Given the description of an element on the screen output the (x, y) to click on. 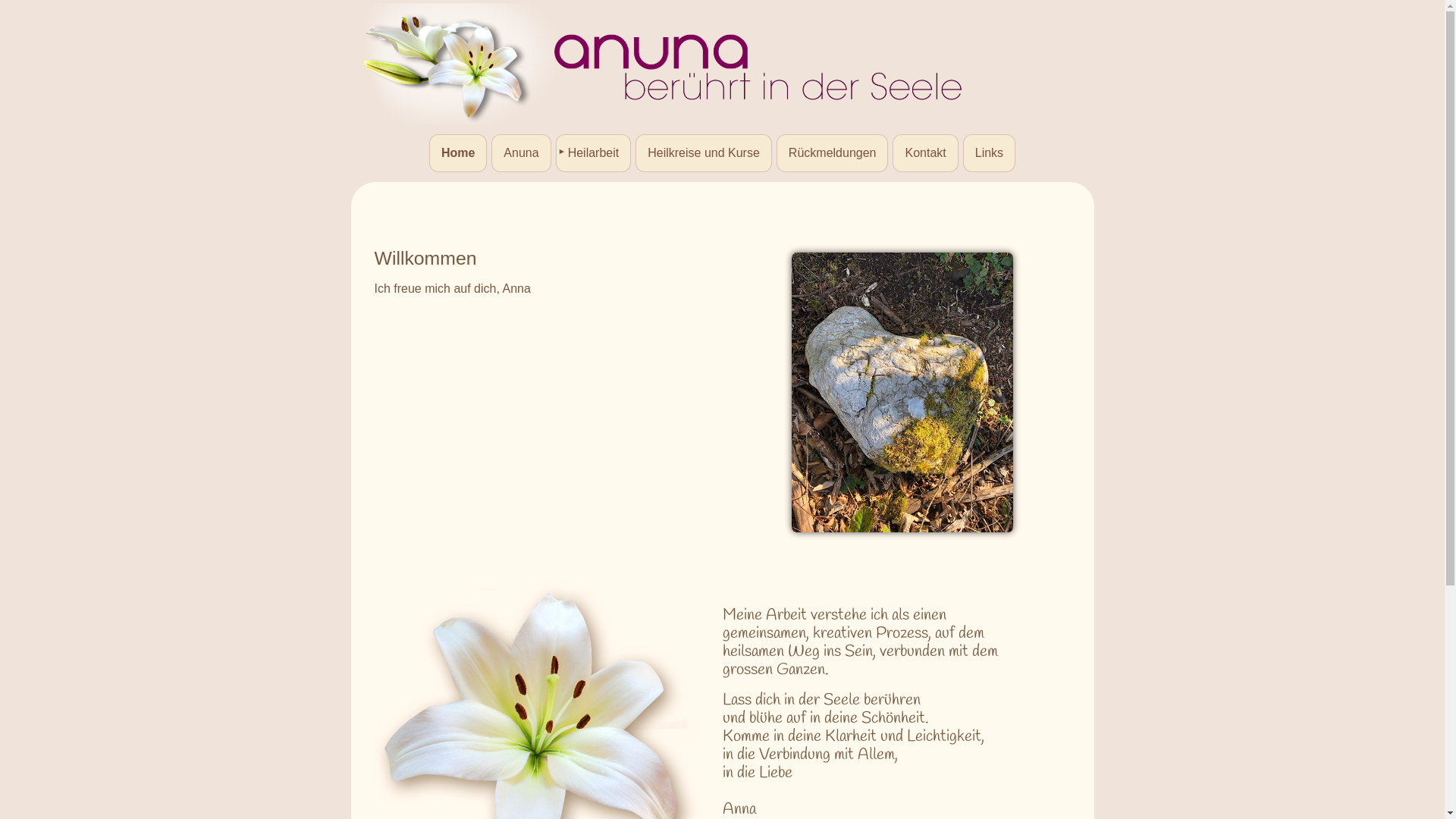
Heilarbeit Element type: text (593, 153)
Anuna Element type: text (520, 153)
Home Element type: text (457, 153)
Links Element type: text (989, 153)
Heilkreise und Kurse Element type: text (703, 153)
Kontakt Element type: text (924, 153)
